Given the description of an element on the screen output the (x, y) to click on. 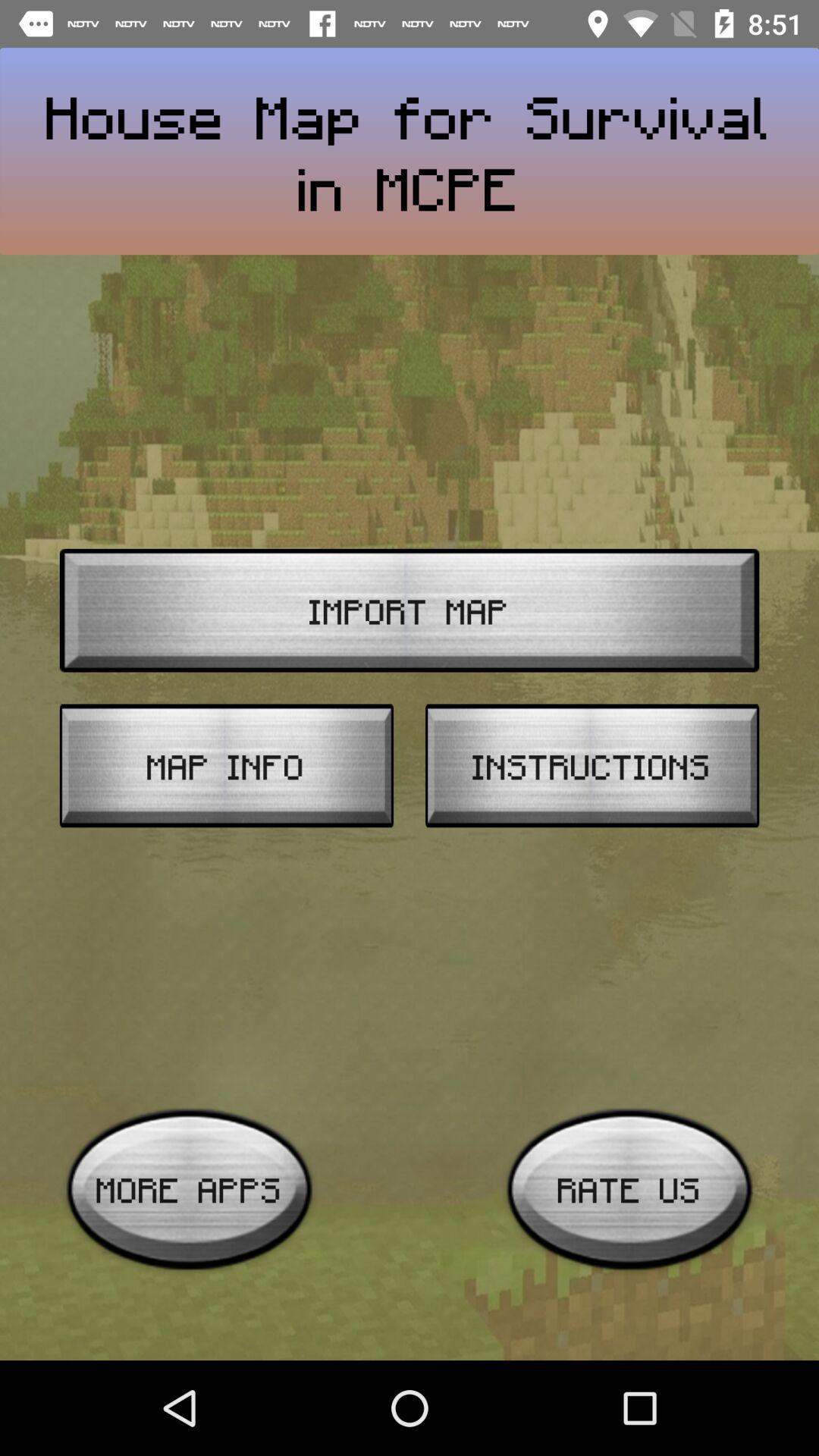
tap the item at the bottom right corner (629, 1188)
